Given the description of an element on the screen output the (x, y) to click on. 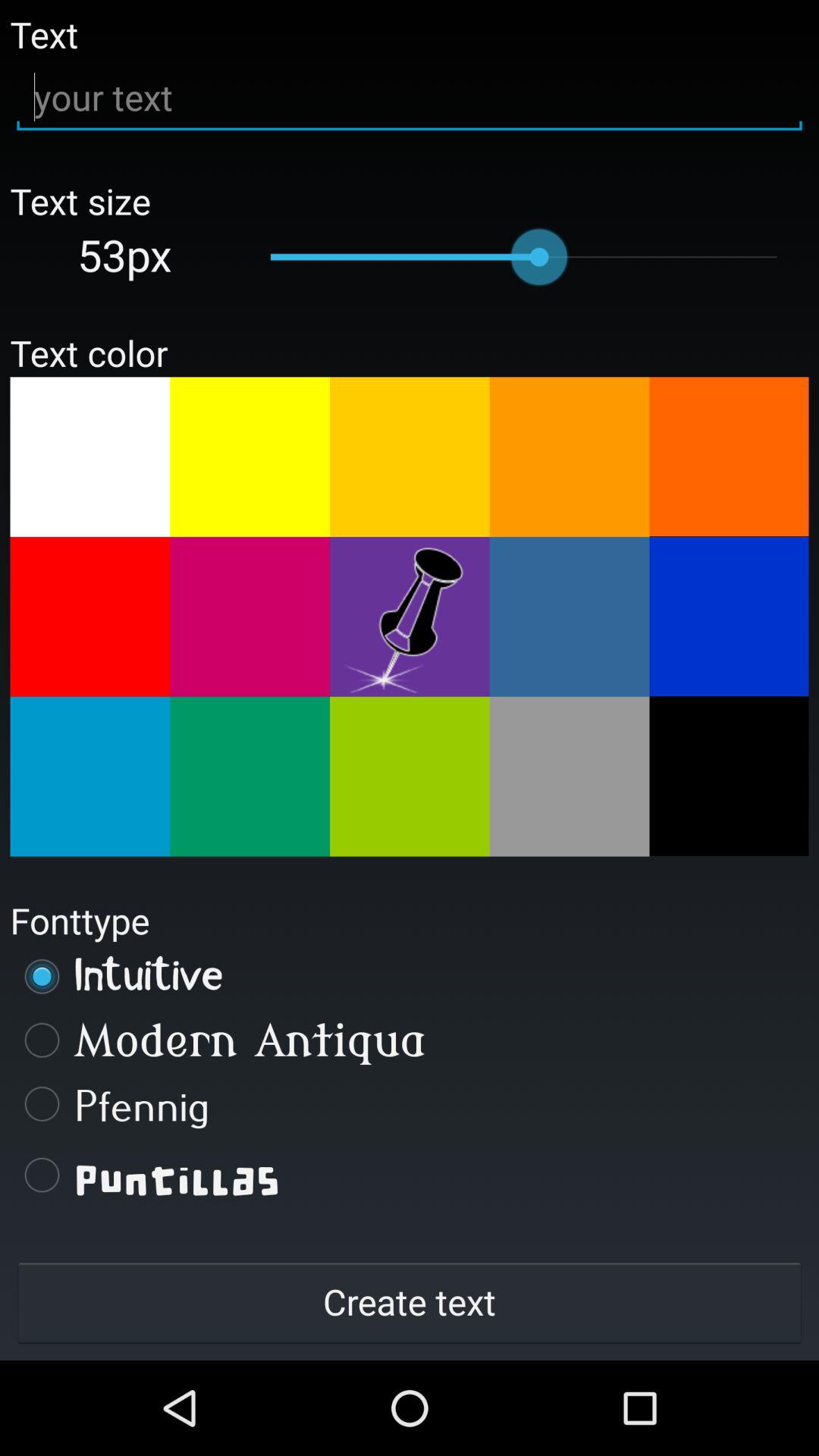
select black text color (728, 775)
